Given the description of an element on the screen output the (x, y) to click on. 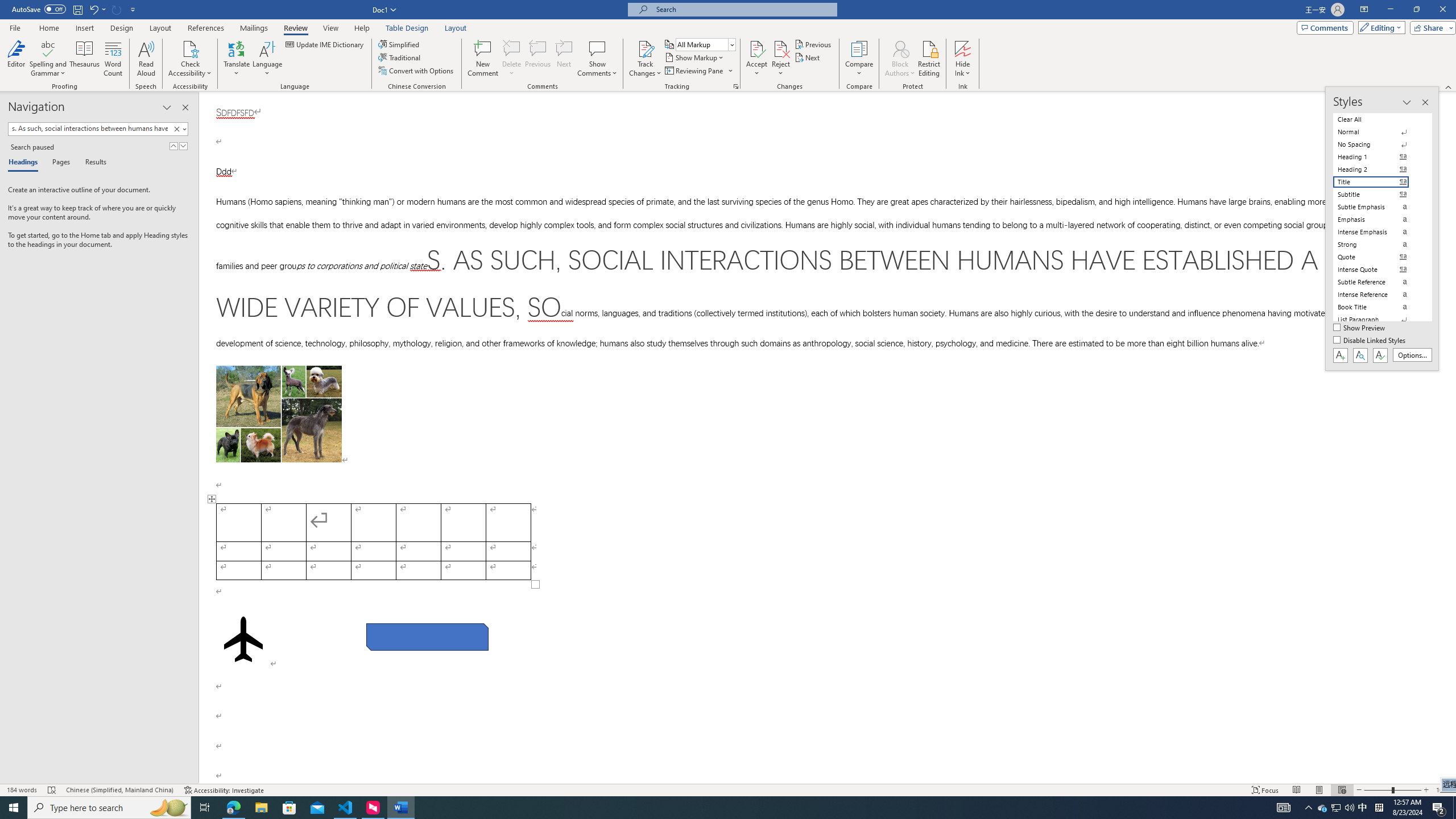
Undo Style (92, 9)
Editing (1379, 27)
List Paragraph (1377, 319)
Reject (780, 58)
Heading 1 (1377, 156)
Emphasis (1377, 219)
Accept and Move to Next (756, 48)
Accessibility Checker Accessibility: Investigate (224, 790)
Class: MsoCommandBar (728, 45)
Spelling and Grammar Check Errors (52, 790)
Heading 2 (1377, 169)
Reviewing Pane (694, 69)
